Given the description of an element on the screen output the (x, y) to click on. 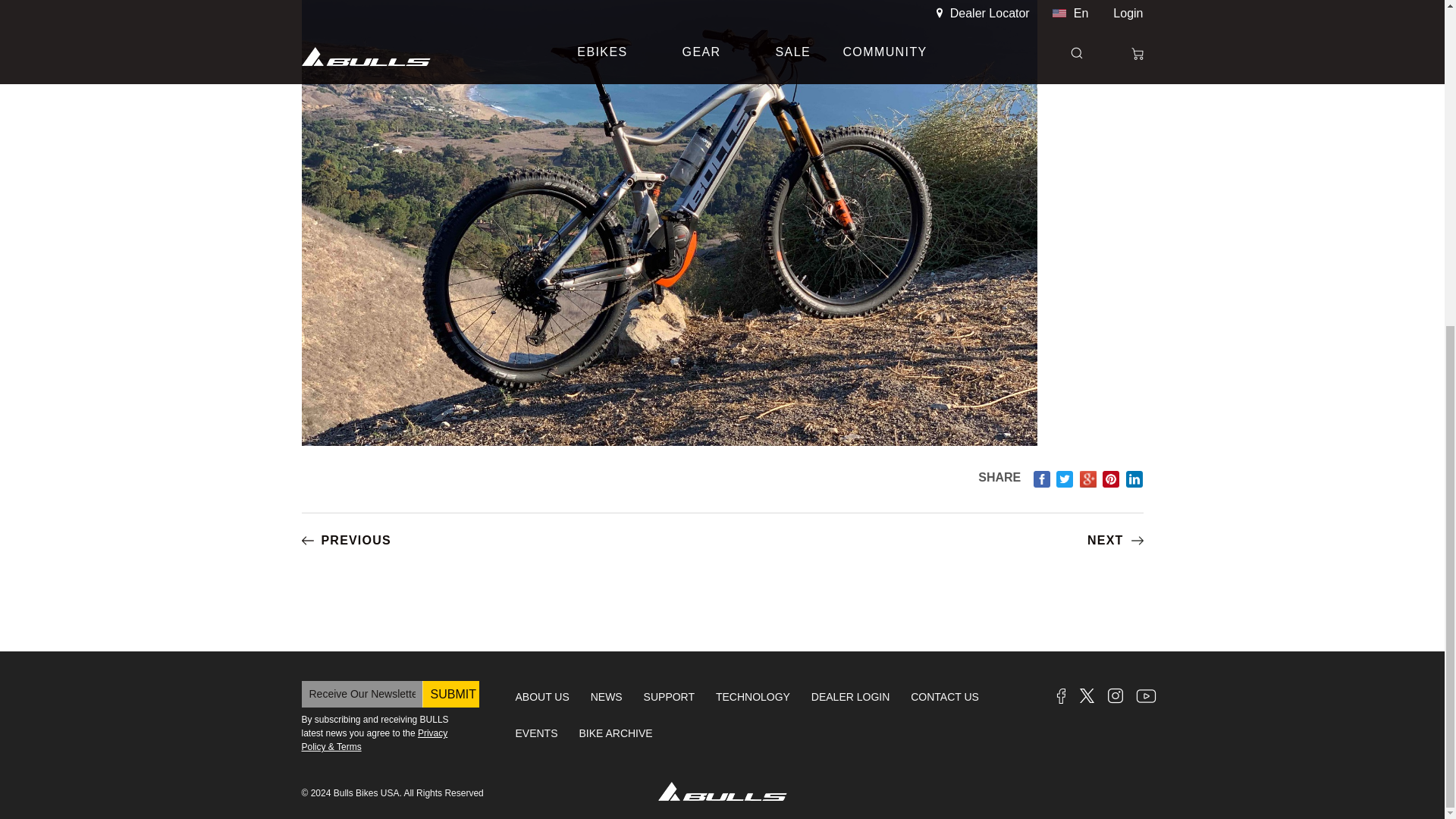
Subscribe (450, 693)
instagram (1115, 694)
Youtube (1145, 694)
twitter (1087, 694)
